Given the description of an element on the screen output the (x, y) to click on. 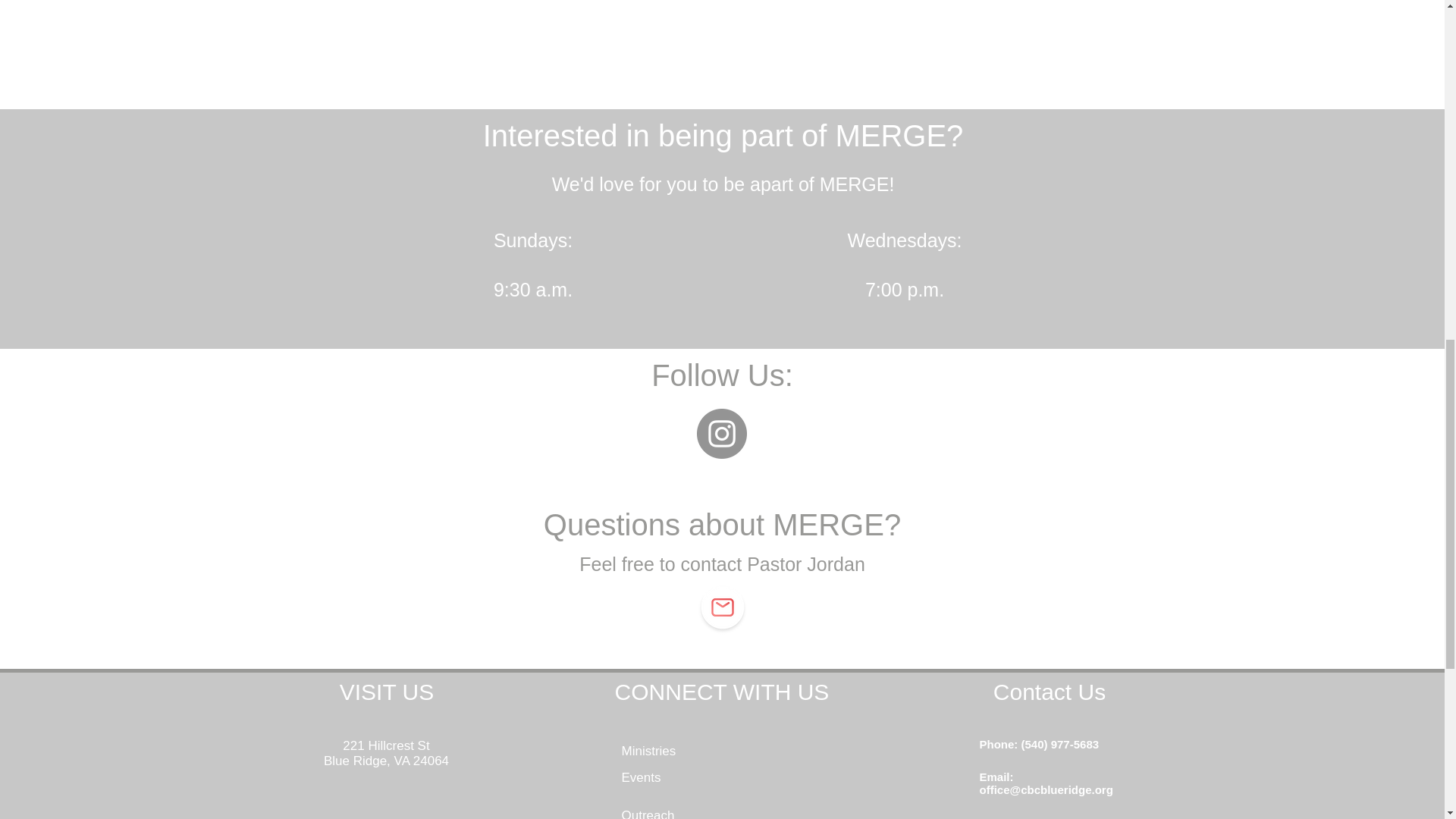
Outreach (648, 813)
Ministries (649, 750)
Events (641, 777)
